Given the description of an element on the screen output the (x, y) to click on. 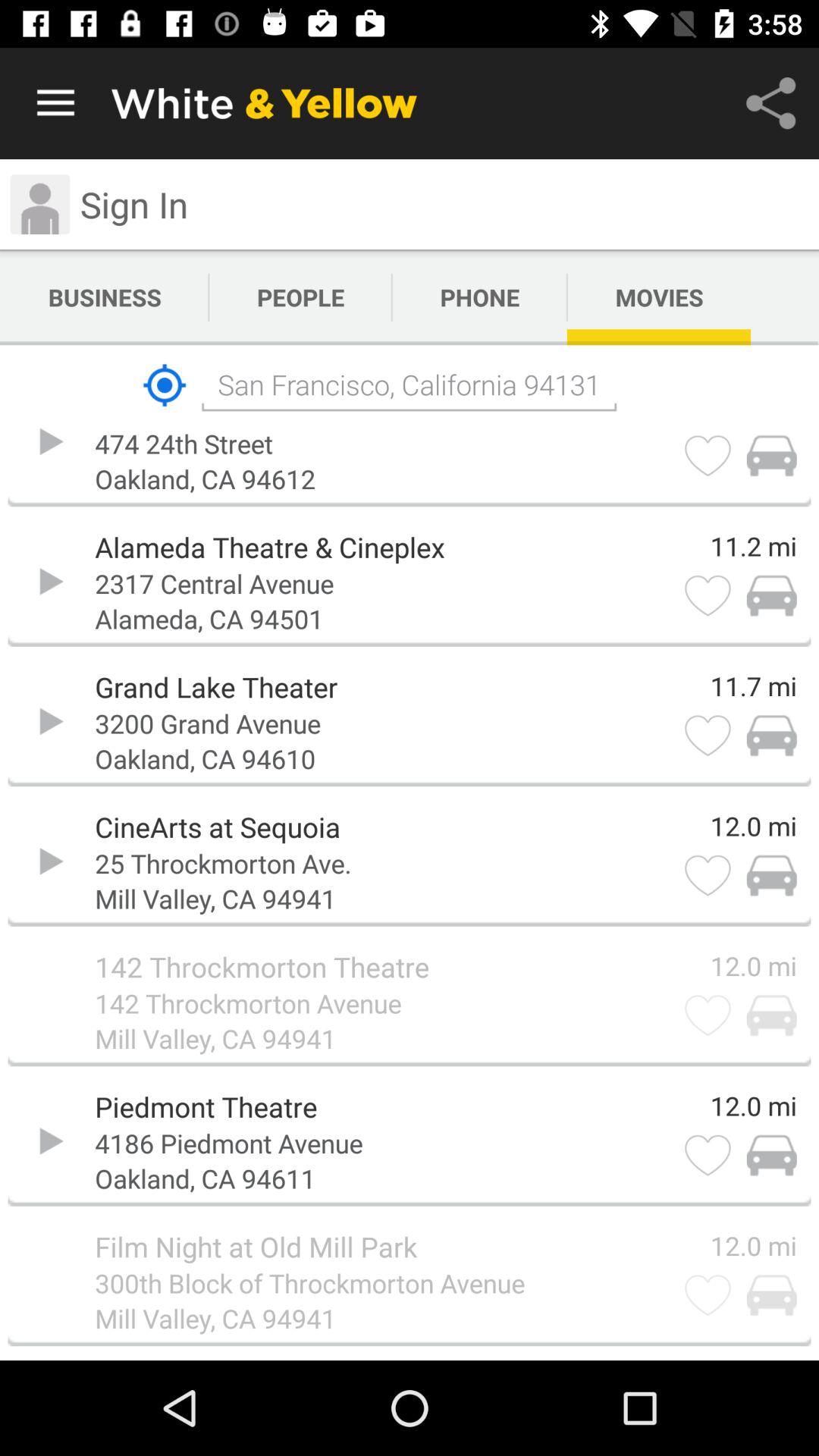
turn on item to the left of san francisco california icon (164, 385)
